Given the description of an element on the screen output the (x, y) to click on. 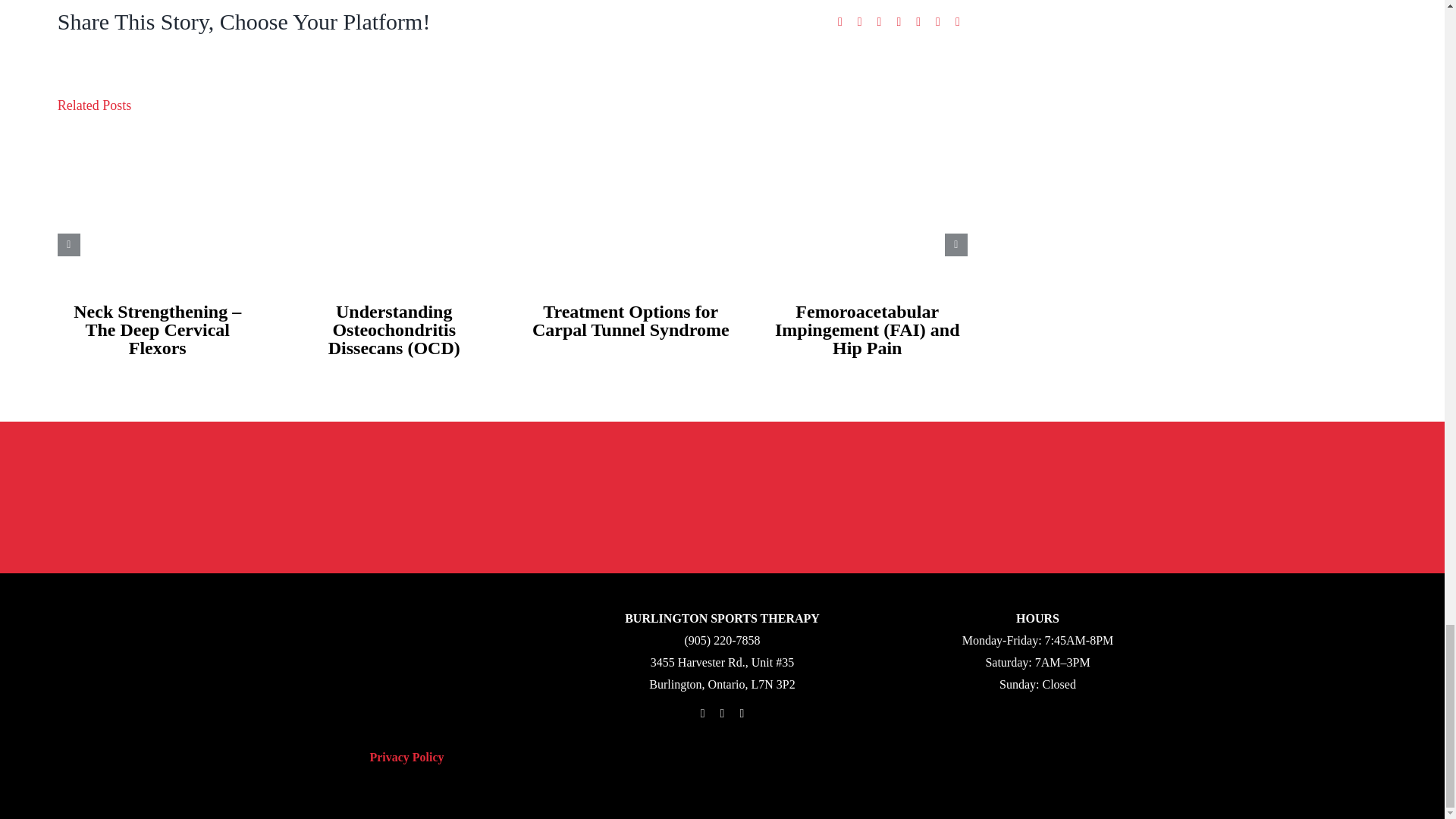
Reddit (879, 22)
Facebook (839, 22)
Tumblr (918, 22)
X (859, 22)
LinkedIn (898, 22)
